Given the description of an element on the screen output the (x, y) to click on. 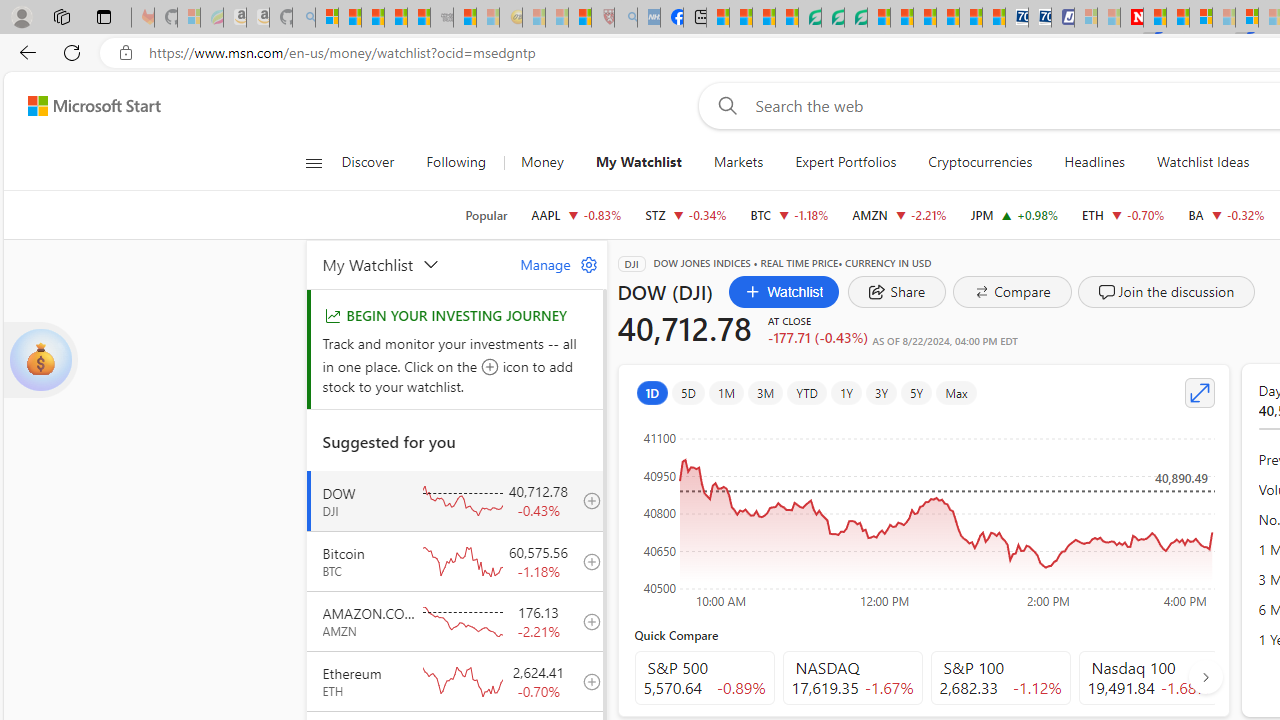
share dialog (897, 291)
Watchlist Ideas (1202, 162)
YTD (806, 392)
LendingTree - Compare Lenders (809, 17)
AAPL APPLE INC. decrease 224.53 -1.87 -0.83% (575, 214)
